Given the description of an element on the screen output the (x, y) to click on. 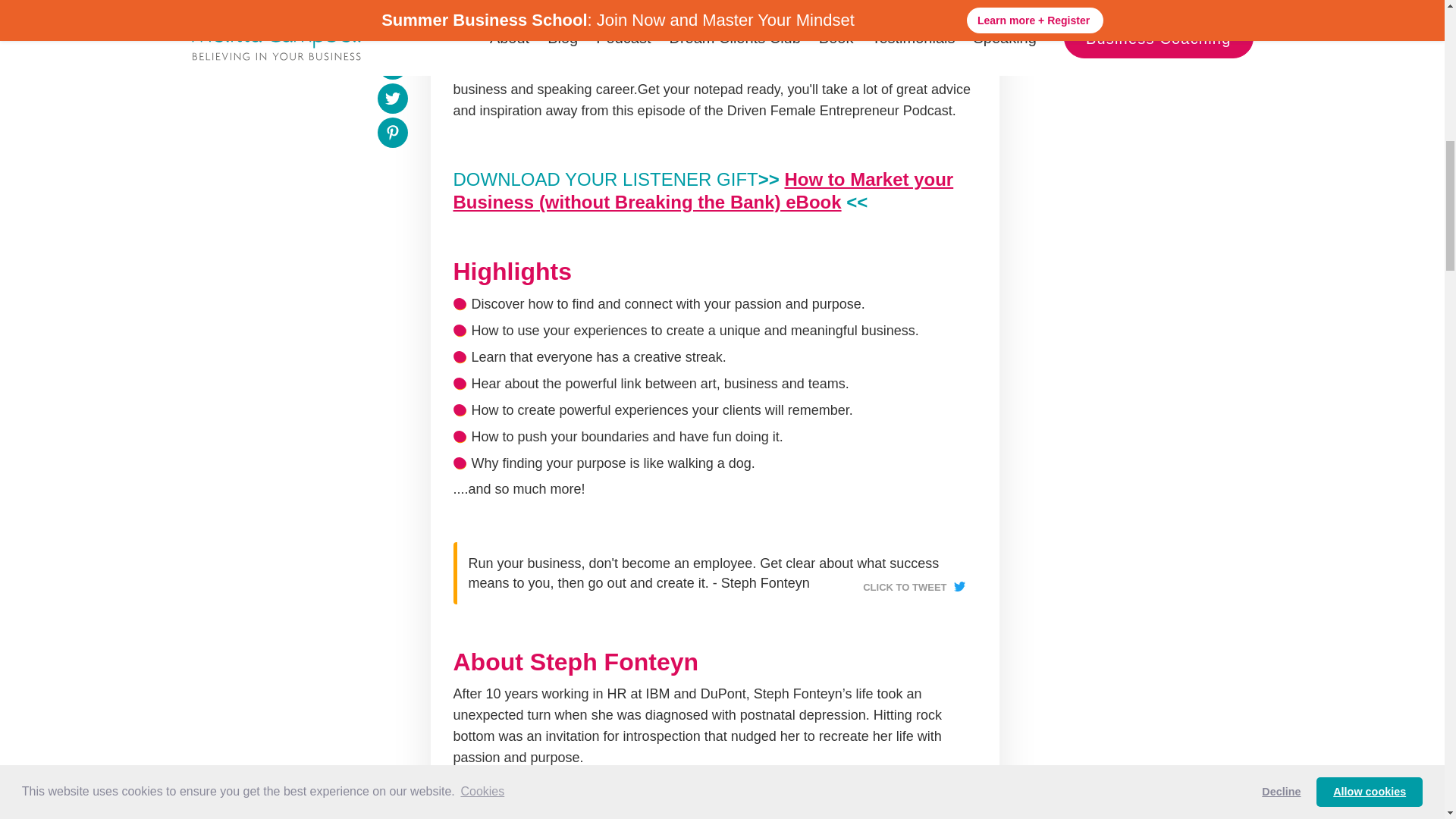
CLICK TO TWEET (913, 582)
